Given the description of an element on the screen output the (x, y) to click on. 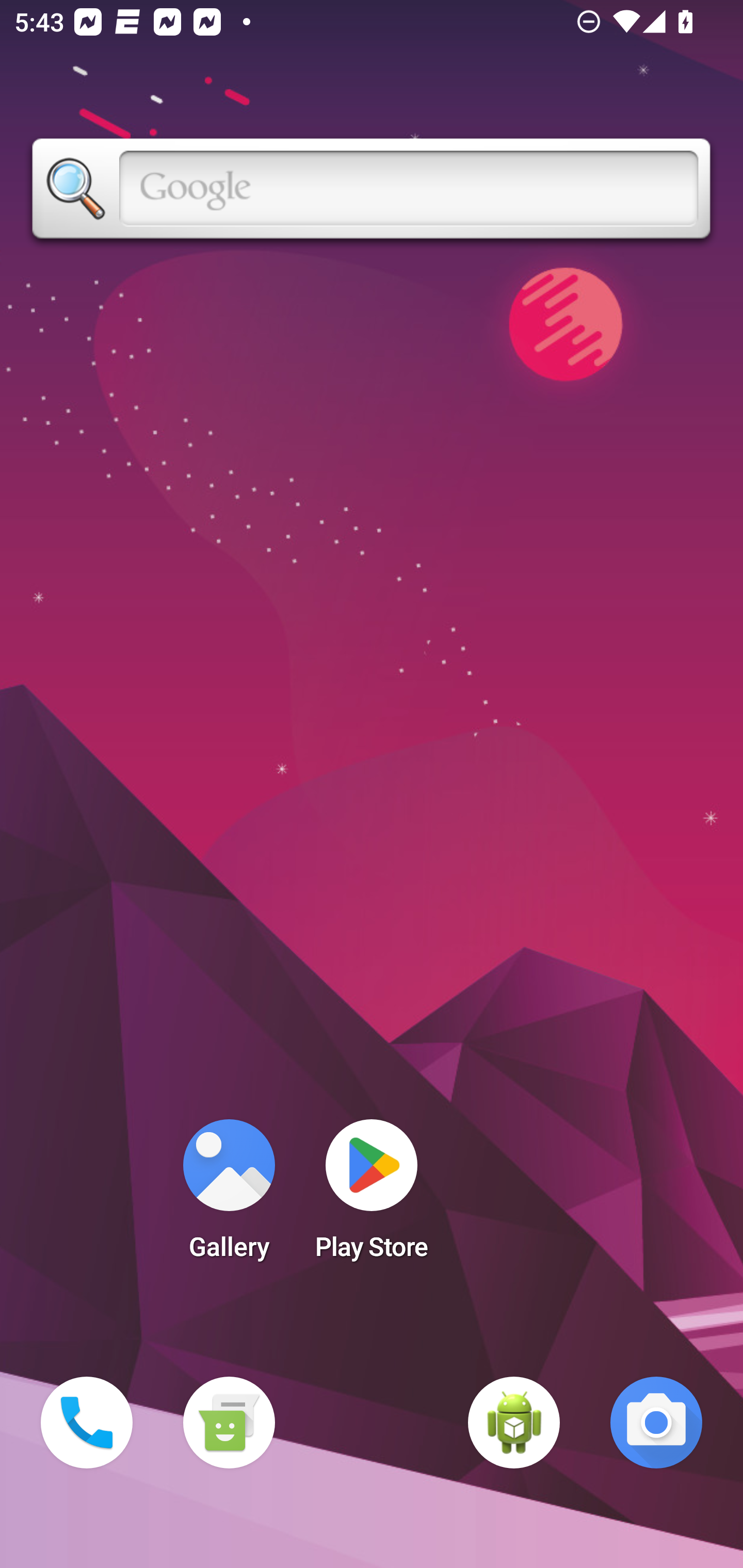
Gallery (228, 1195)
Play Store (371, 1195)
Phone (86, 1422)
Messaging (228, 1422)
WebView Browser Tester (513, 1422)
Camera (656, 1422)
